Given the description of an element on the screen output the (x, y) to click on. 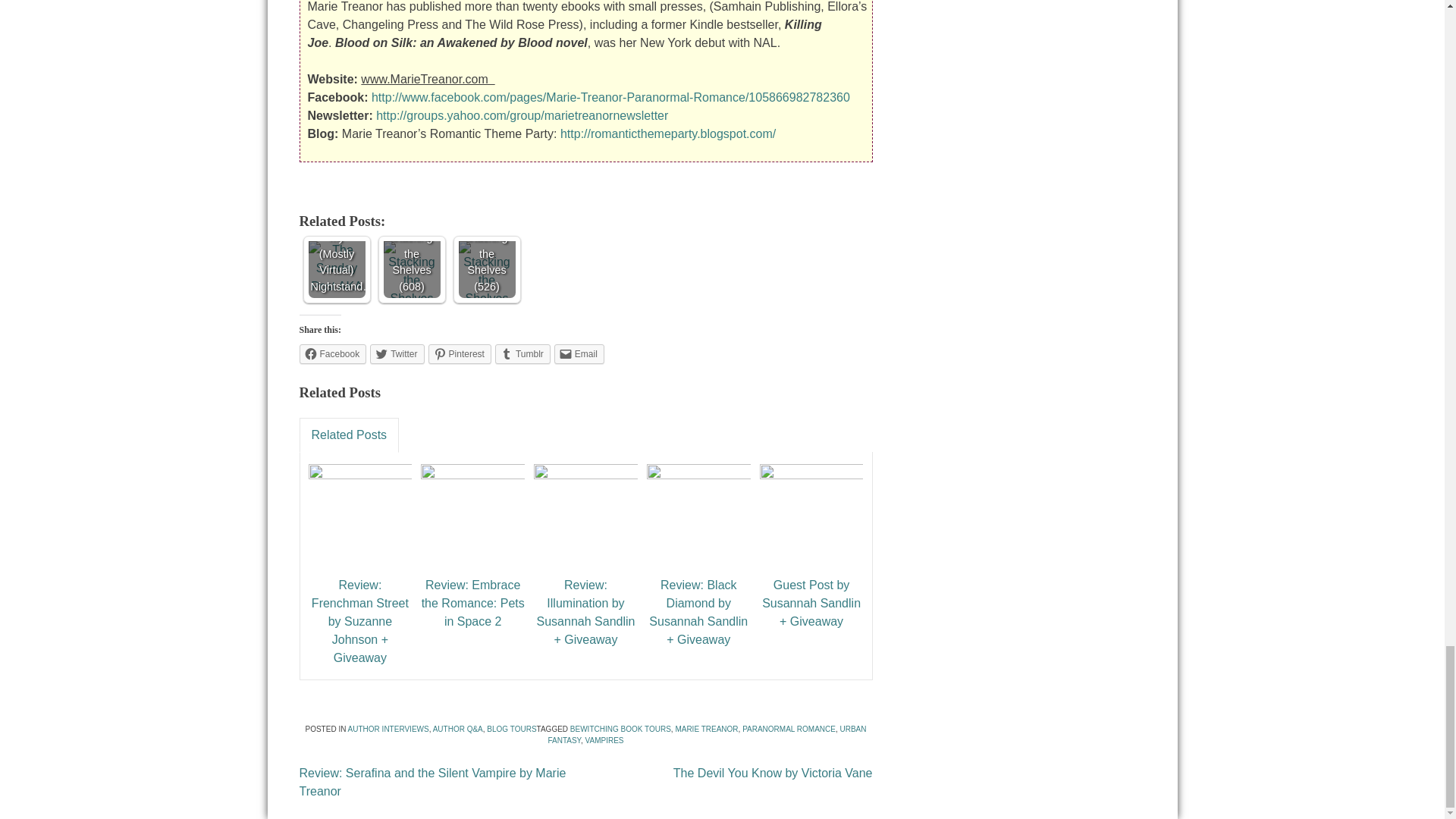
Tumblr (522, 353)
Twitter (396, 353)
Click to share on Twitter (396, 353)
Facebook (332, 353)
Click to share on Pinterest (460, 353)
Pinterest (460, 353)
Click to share on Tumblr (522, 353)
Click to share on Facebook (332, 353)
Review: Embrace the Romance: Pets in Space 2 (472, 603)
Related Posts (348, 435)
